Given the description of an element on the screen output the (x, y) to click on. 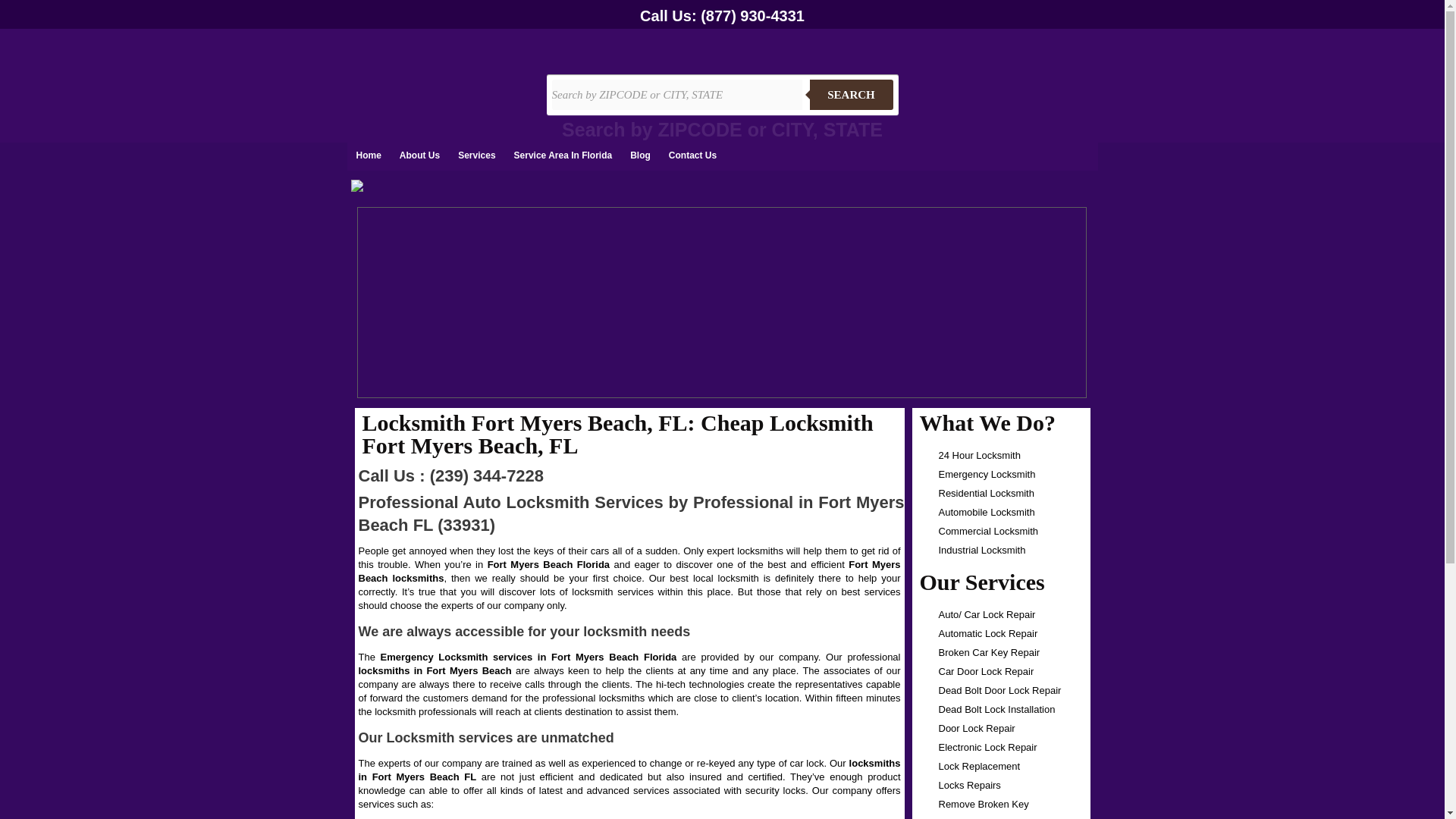
Blog (640, 154)
Service Area In Florida (563, 154)
About Us (419, 154)
Home (368, 154)
Contact Us (692, 154)
SEARCH (851, 94)
Services (475, 154)
